Given the description of an element on the screen output the (x, y) to click on. 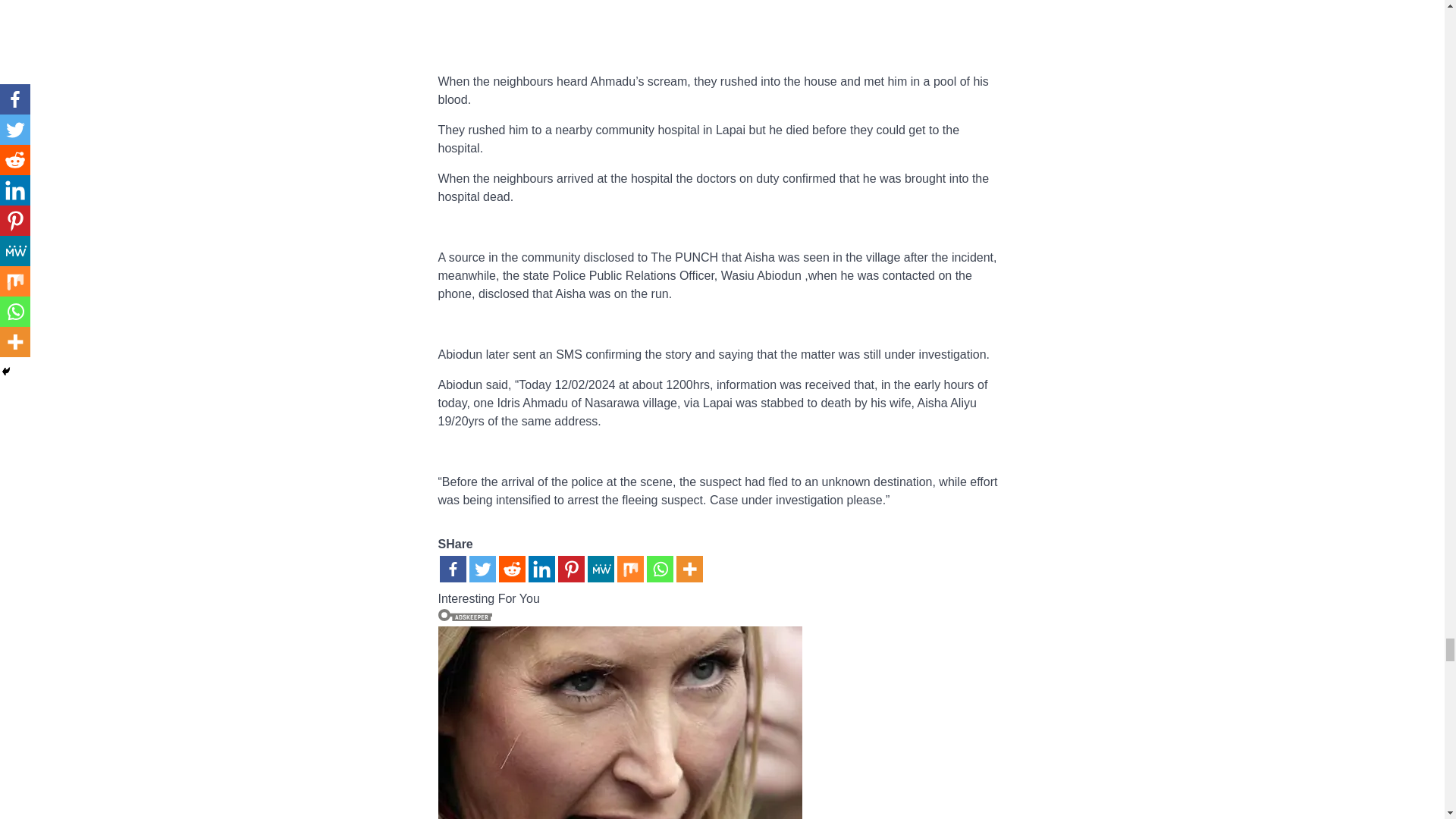
Reddit (512, 569)
Twitter (481, 569)
Facebook (452, 569)
